Given the description of an element on the screen output the (x, y) to click on. 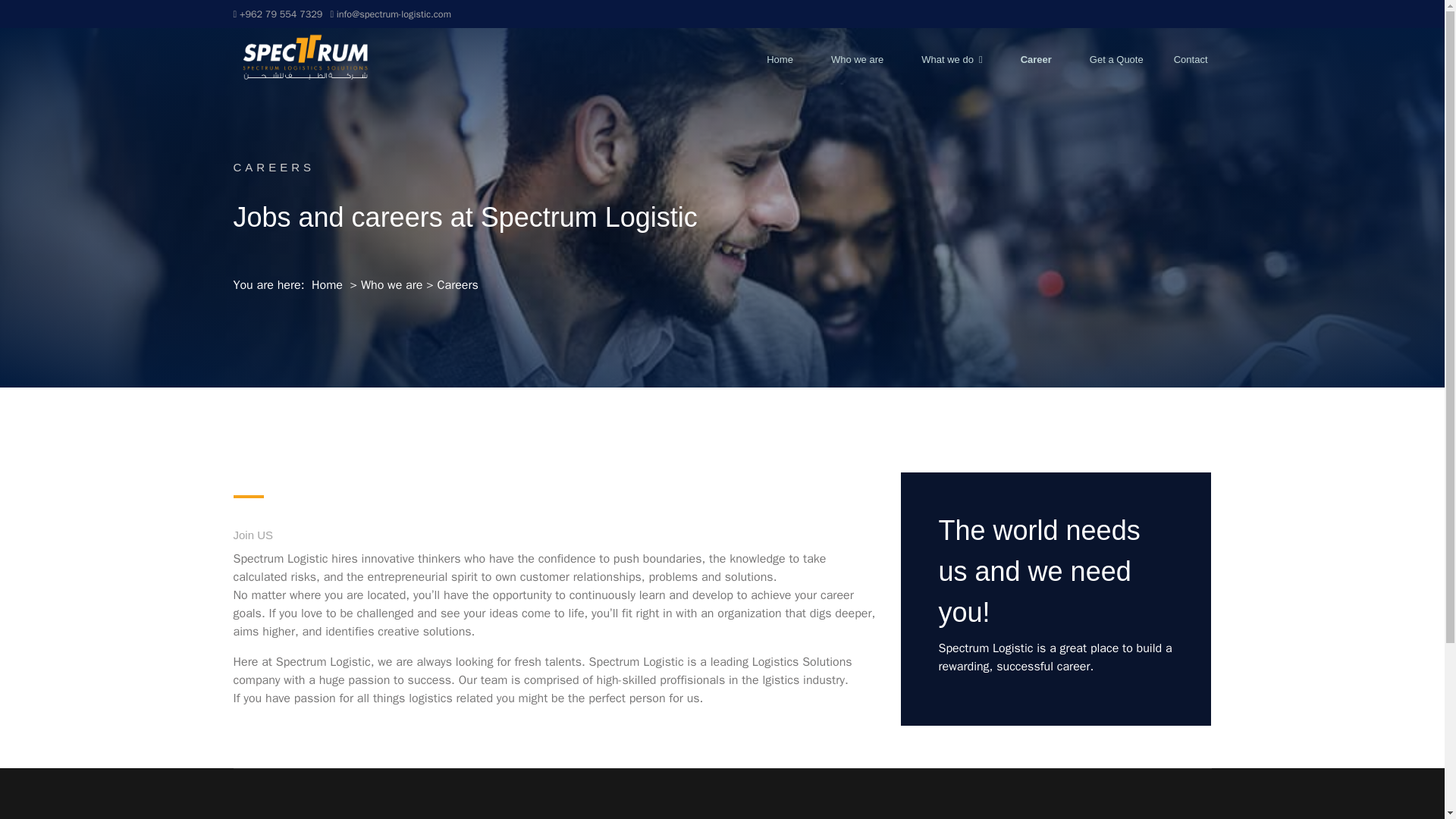
Home (780, 59)
What we do (951, 59)
Career (1035, 59)
Get a Quote (1115, 59)
Who we are (857, 59)
Home  (328, 284)
